Given the description of an element on the screen output the (x, y) to click on. 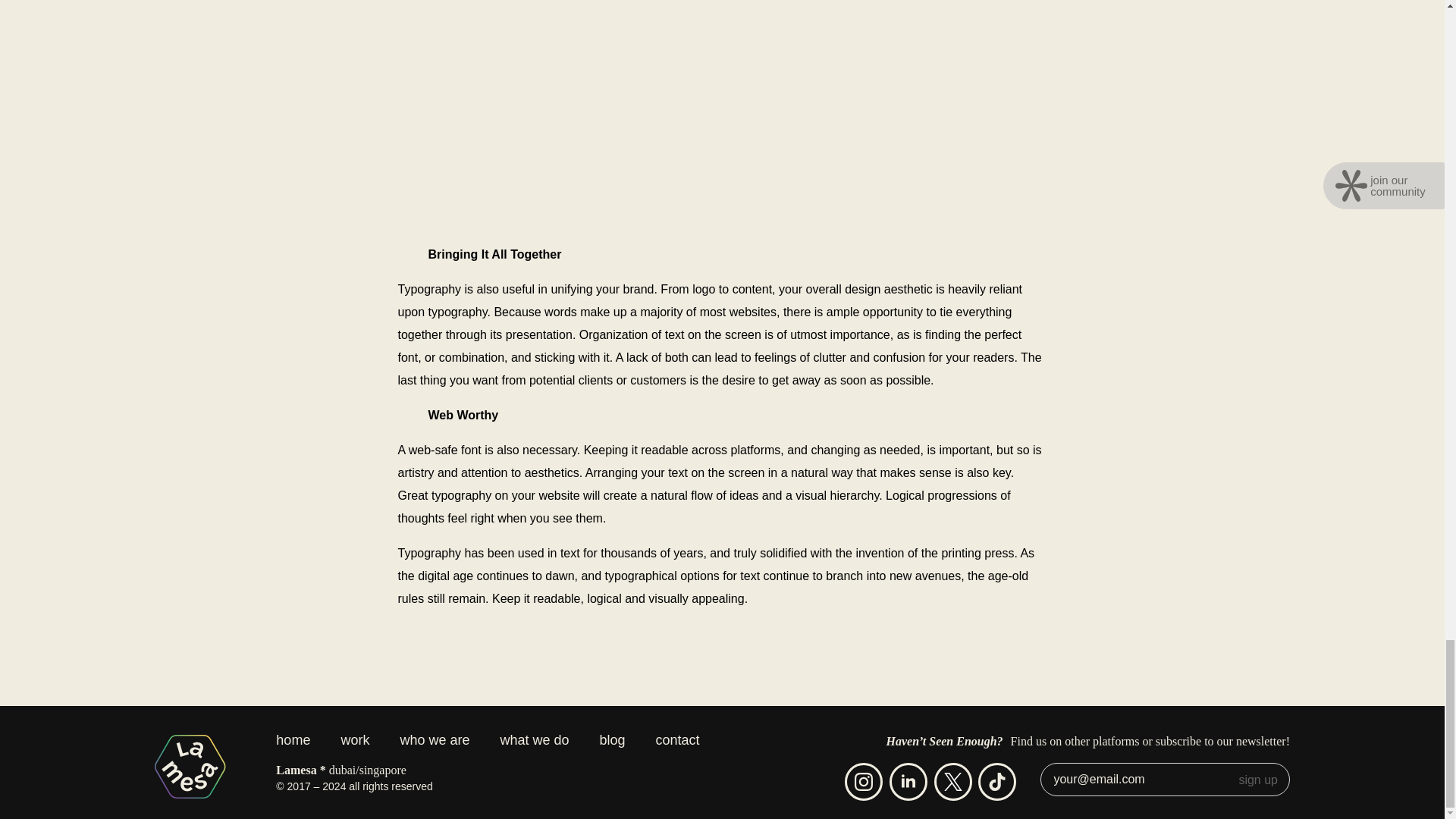
who we are (434, 747)
work (354, 747)
home (300, 747)
what we do (533, 747)
blog (612, 747)
contact (677, 747)
sign up (1259, 779)
